Given the description of an element on the screen output the (x, y) to click on. 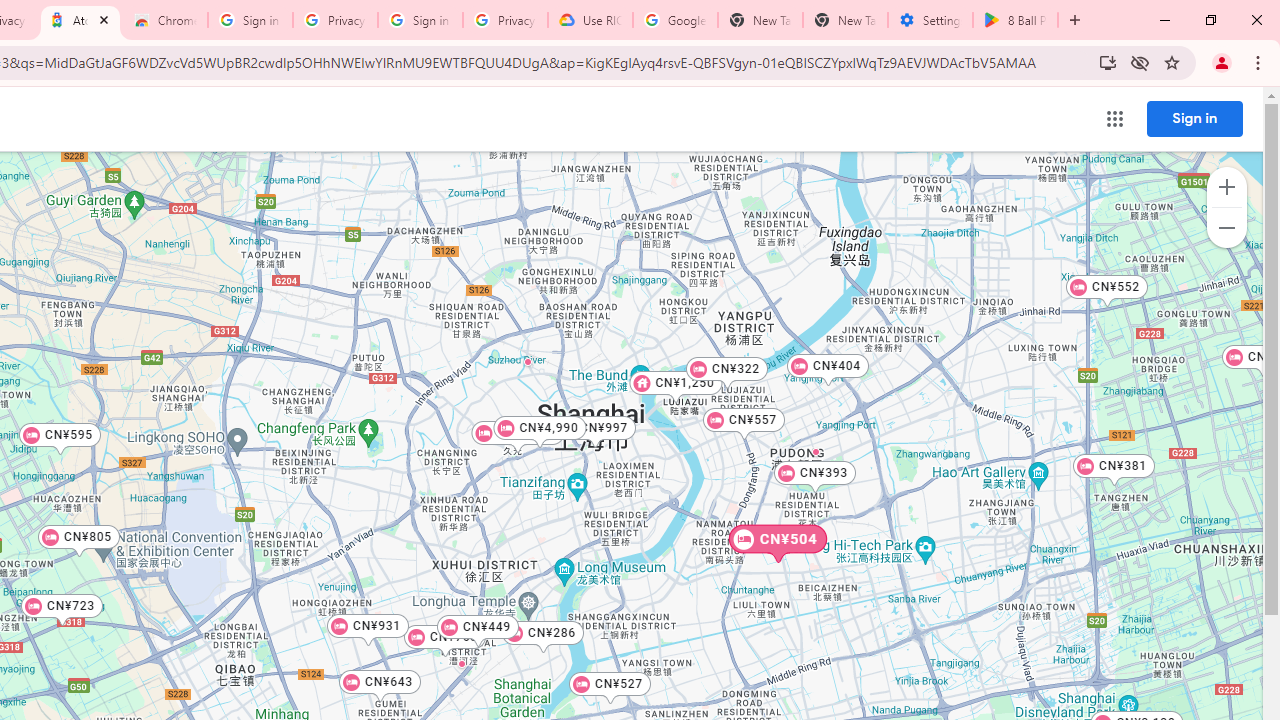
Sign in - Google Accounts (250, 20)
Chrome Web Store - Color themes by Chrome (165, 20)
Junting Hotel (460, 663)
Atour Hotel - Google hotels (80, 20)
Settings - System (930, 20)
